Given the description of an element on the screen output the (x, y) to click on. 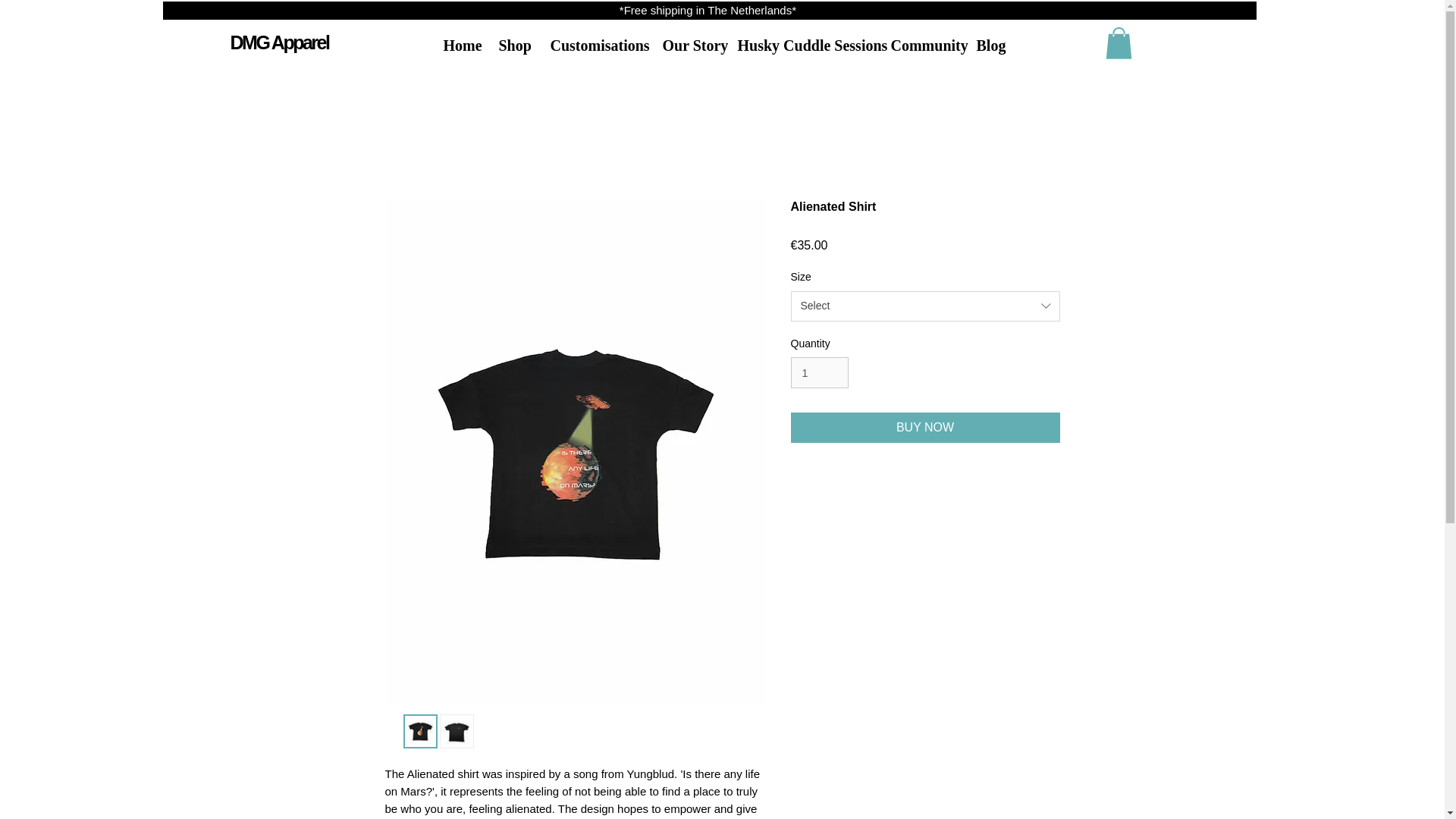
Our Story (687, 45)
BUY NOW (924, 427)
Select (924, 306)
Blog (987, 45)
1 (818, 372)
DMG Apparel (279, 42)
Husky Cuddle Sessions (802, 45)
Home (459, 45)
Shop (512, 45)
Community (922, 45)
